Given the description of an element on the screen output the (x, y) to click on. 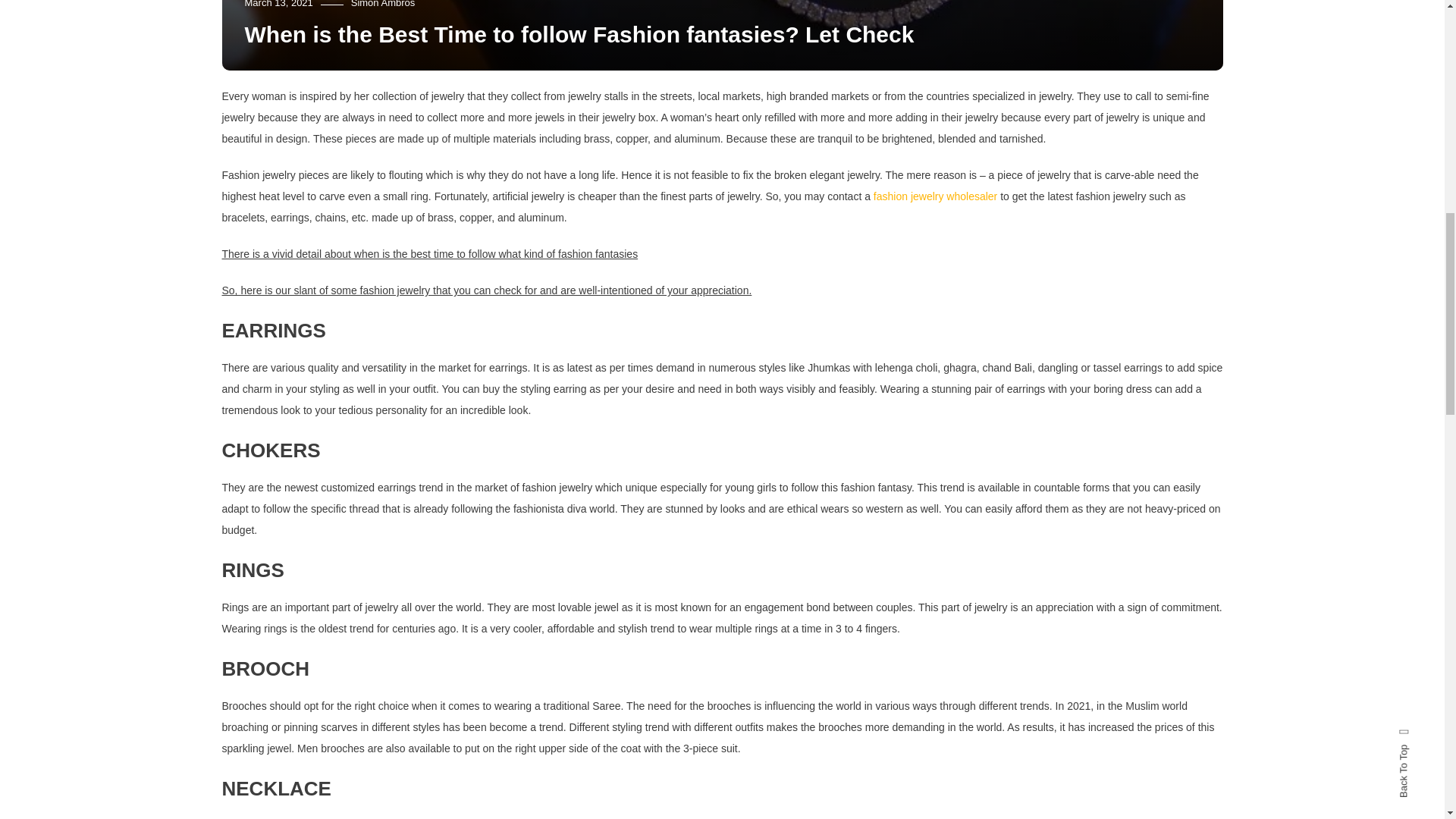
fashion jewelry wholesaler (935, 196)
March 13, 2021 (278, 4)
When is the Best Time to follow Fashion fantasies? Let Check (579, 34)
Simon Ambros (382, 4)
